Given the description of an element on the screen output the (x, y) to click on. 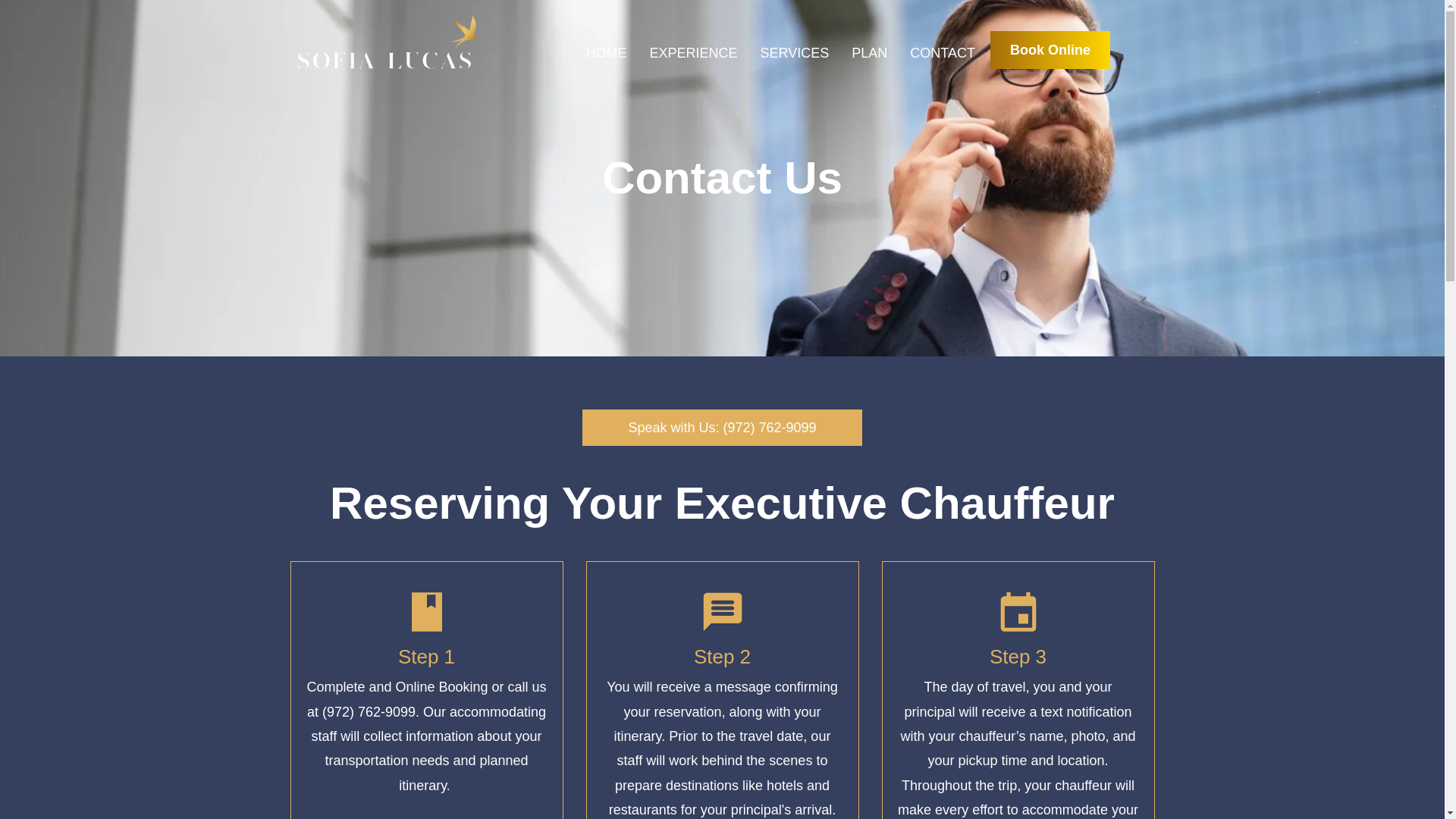
HOME (605, 53)
CONTACT (942, 53)
EXPERIENCE (692, 53)
Book Online (1049, 49)
SERVICES (794, 53)
PLAN (868, 53)
